Given the description of an element on the screen output the (x, y) to click on. 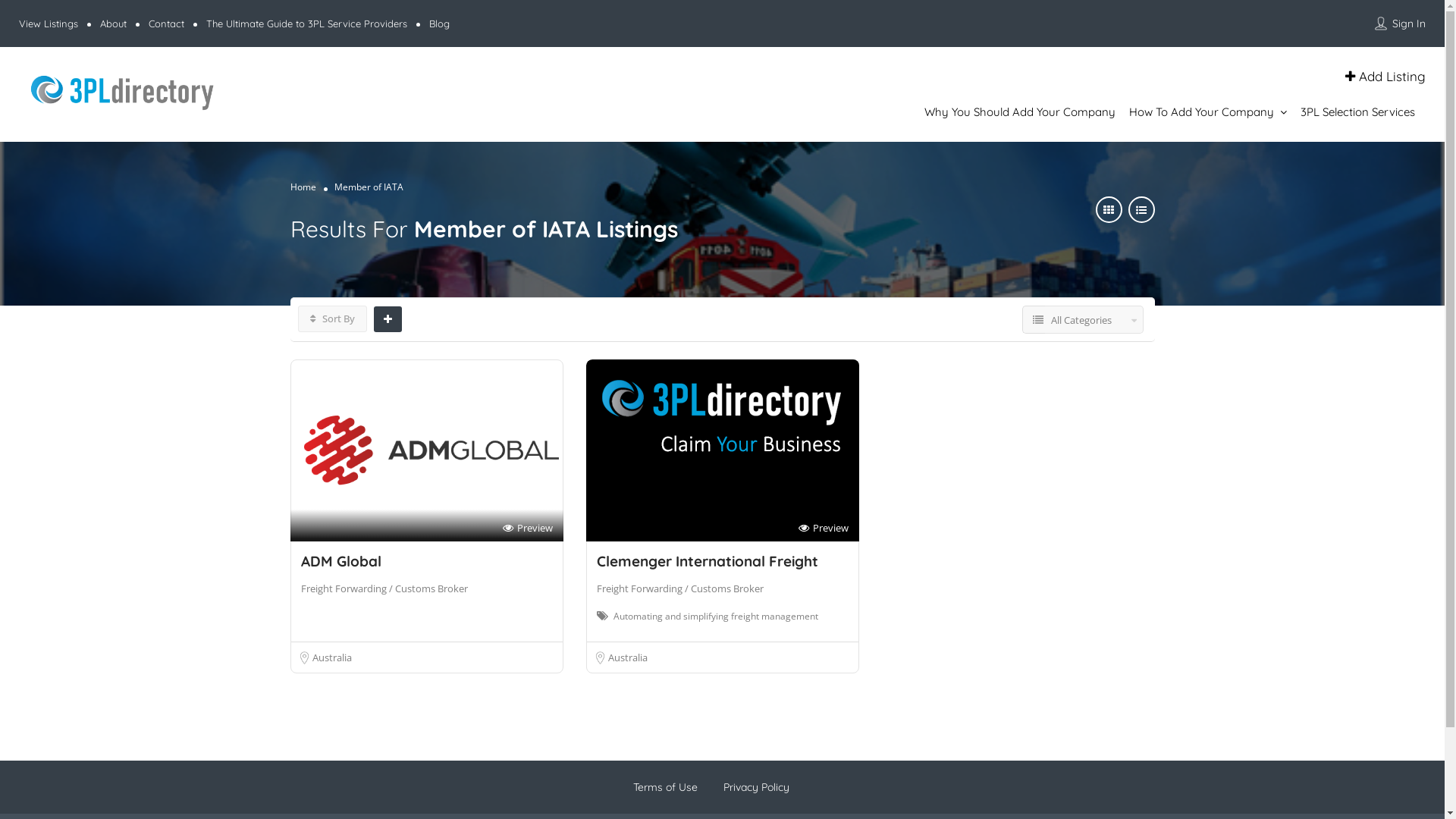
Australia Element type: text (627, 657)
All Categories Element type: text (1093, 319)
Why You Should Add Your Company Element type: text (1019, 111)
Blog Element type: text (439, 23)
View Listings Element type: text (48, 23)
Australia Element type: text (331, 657)
Privacy Policy Element type: text (756, 786)
Clemenger International Freight Element type: text (706, 561)
3PL Selection Services Element type: text (1357, 111)
Sort By Element type: text (331, 318)
Terms of Use Element type: text (664, 786)
Preview Element type: text (822, 527)
Preview Element type: text (527, 527)
Freight Forwarding / Customs Broker Element type: text (679, 588)
Sign In Element type: text (1408, 23)
Home Element type: text (302, 186)
Contact Element type: text (166, 23)
How To Add Your Company Element type: text (1201, 111)
Freight Forwarding / Customs Broker Element type: text (383, 588)
ADM Global Element type: text (340, 561)
Add Listing Element type: text (1385, 76)
About Element type: text (113, 23)
The Ultimate Guide to 3PL Service Providers Element type: text (306, 23)
